Given the description of an element on the screen output the (x, y) to click on. 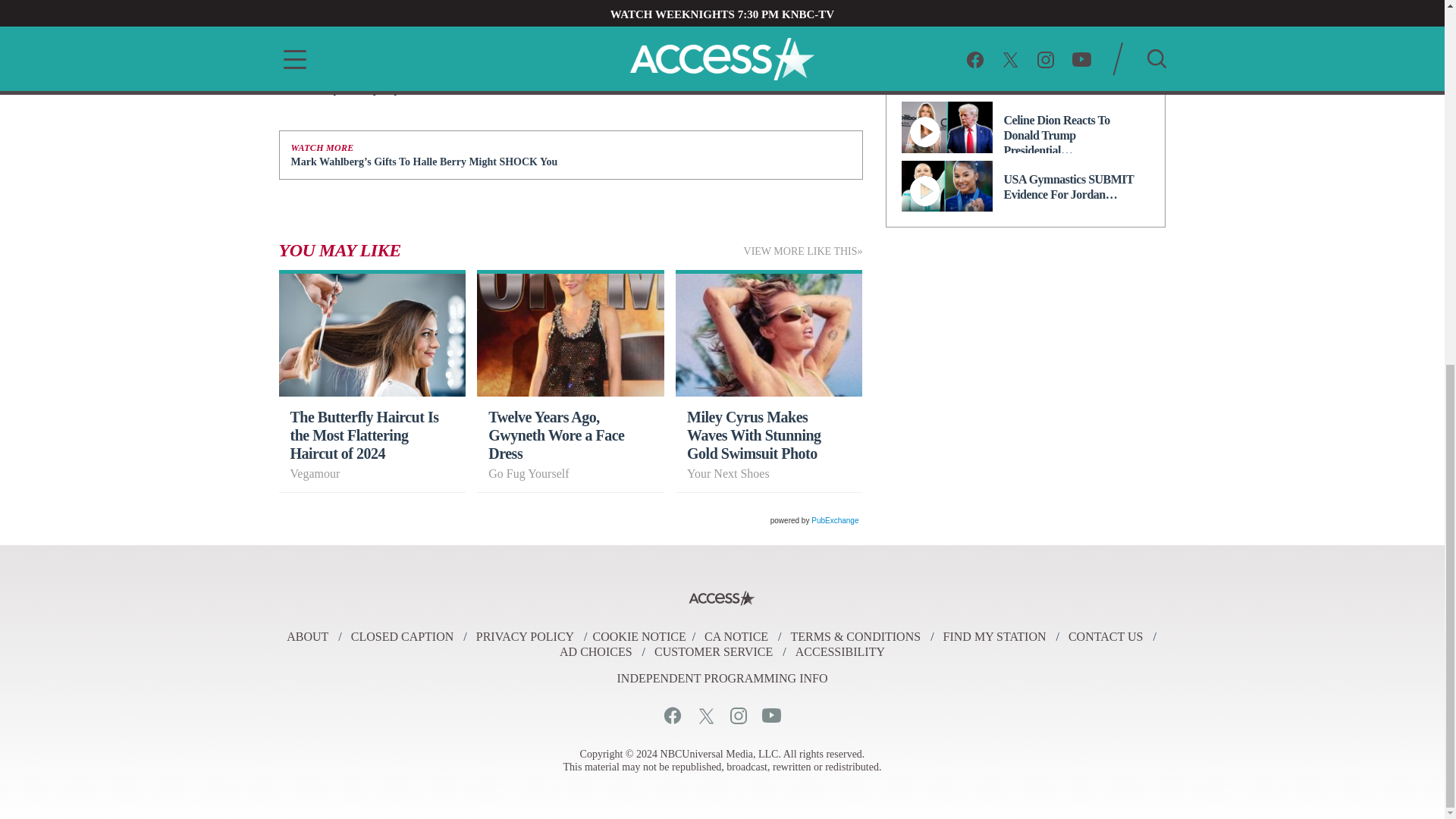
Twitter (704, 714)
Youtube (770, 714)
Facebook (671, 714)
Instagram (737, 714)
